Given the description of an element on the screen output the (x, y) to click on. 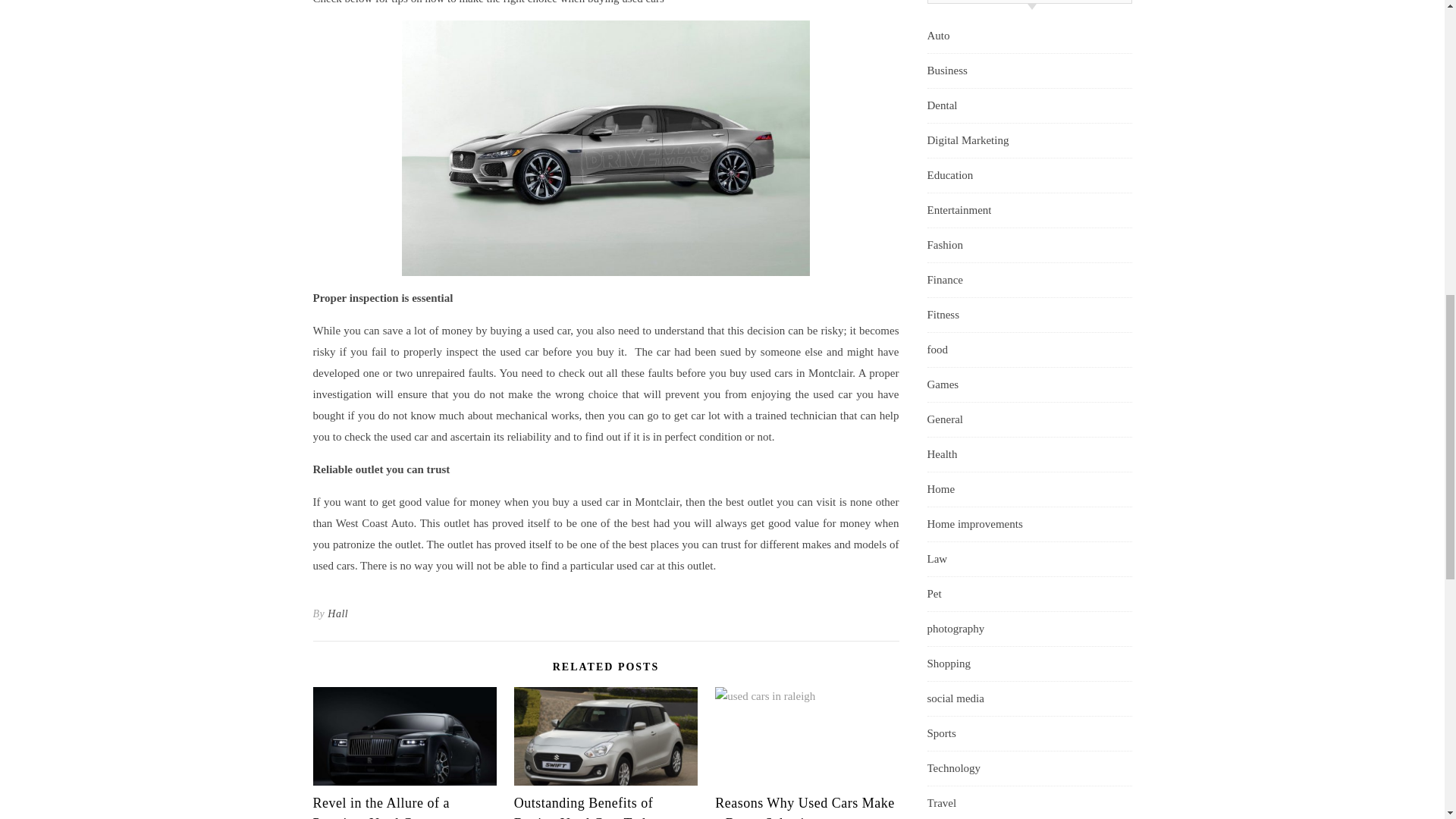
Games (942, 384)
Digital Marketing (967, 140)
Fitness (942, 315)
Business (946, 70)
Posts by Hall (337, 613)
General (944, 419)
Revel in the Allure of a Premium Used Car, (380, 807)
Hall (337, 613)
Fashion (944, 245)
Education (949, 175)
Reasons Why Used Cars Make a Better Selection (804, 807)
Entertainment (958, 210)
Finance (944, 279)
Outstanding Benefits of Buying Used Cars Today  (588, 807)
